Given the description of an element on the screen output the (x, y) to click on. 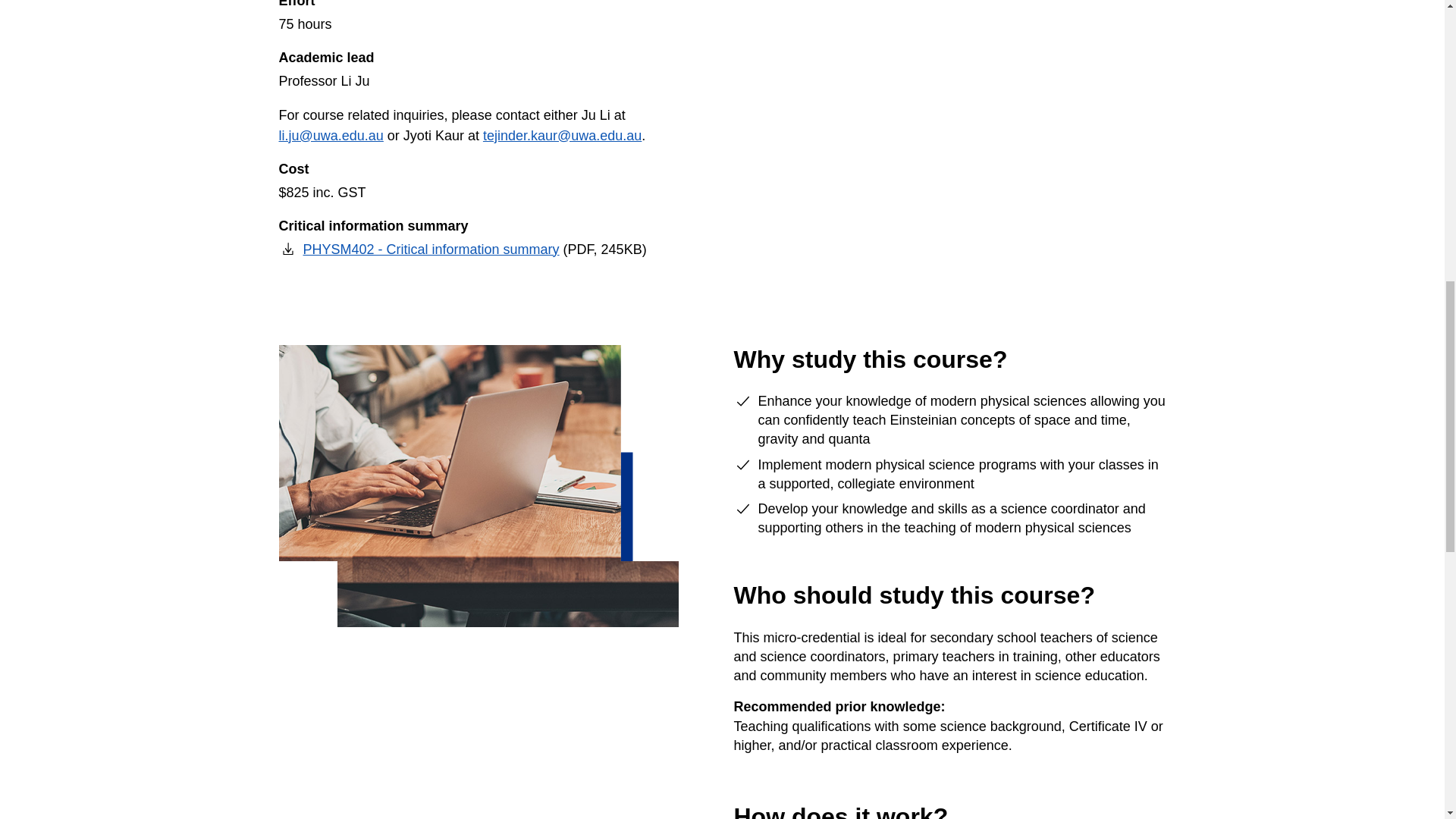
PHYSM402 - Critical information summary (419, 249)
